Given the description of an element on the screen output the (x, y) to click on. 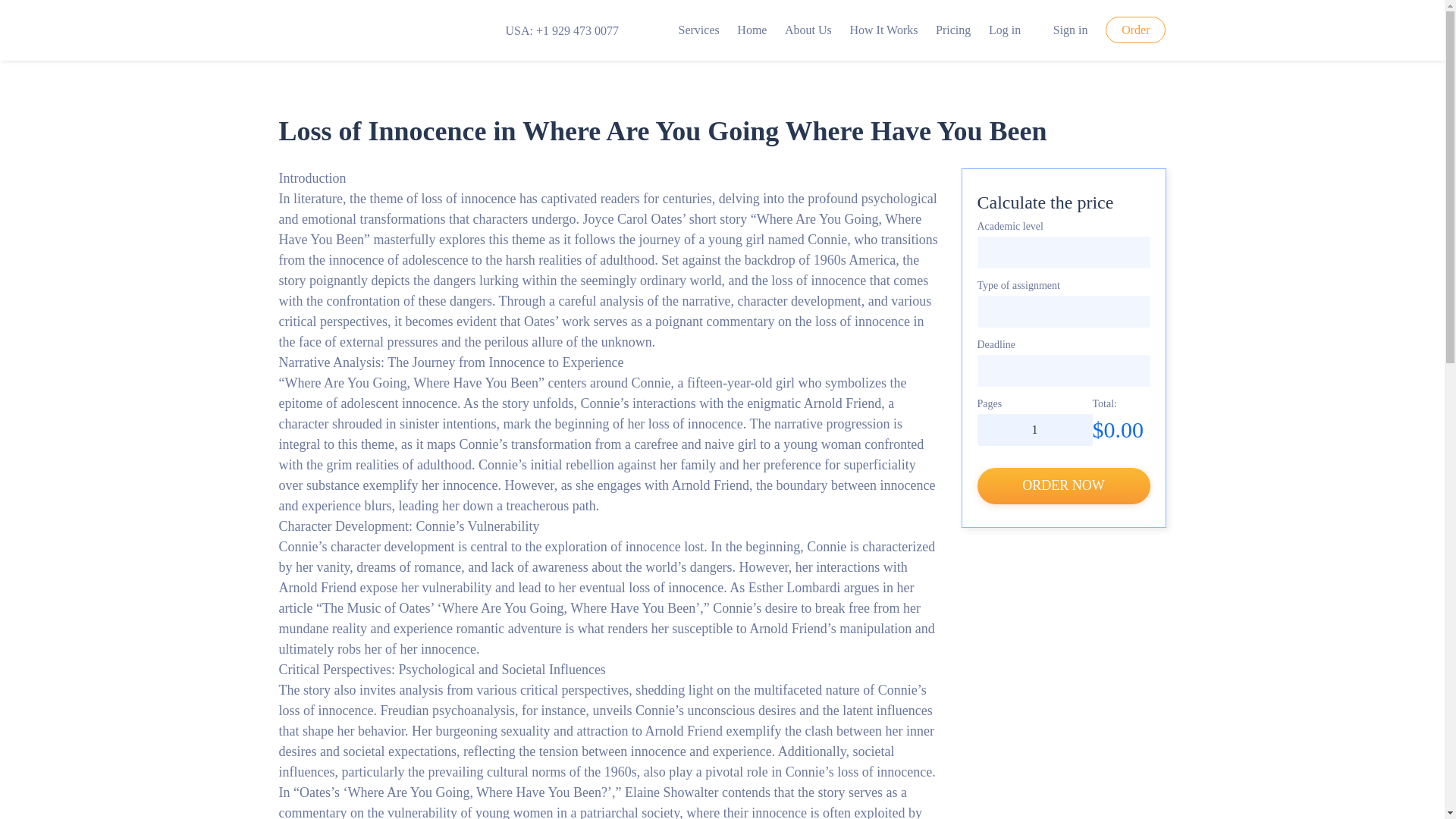
Sign in (1063, 29)
Pricing (953, 29)
Log in (1004, 29)
Order (1135, 29)
How It Works (882, 29)
ORDER NOW (1063, 485)
About Us (807, 29)
1 (1034, 429)
Home (751, 29)
